Given the description of an element on the screen output the (x, y) to click on. 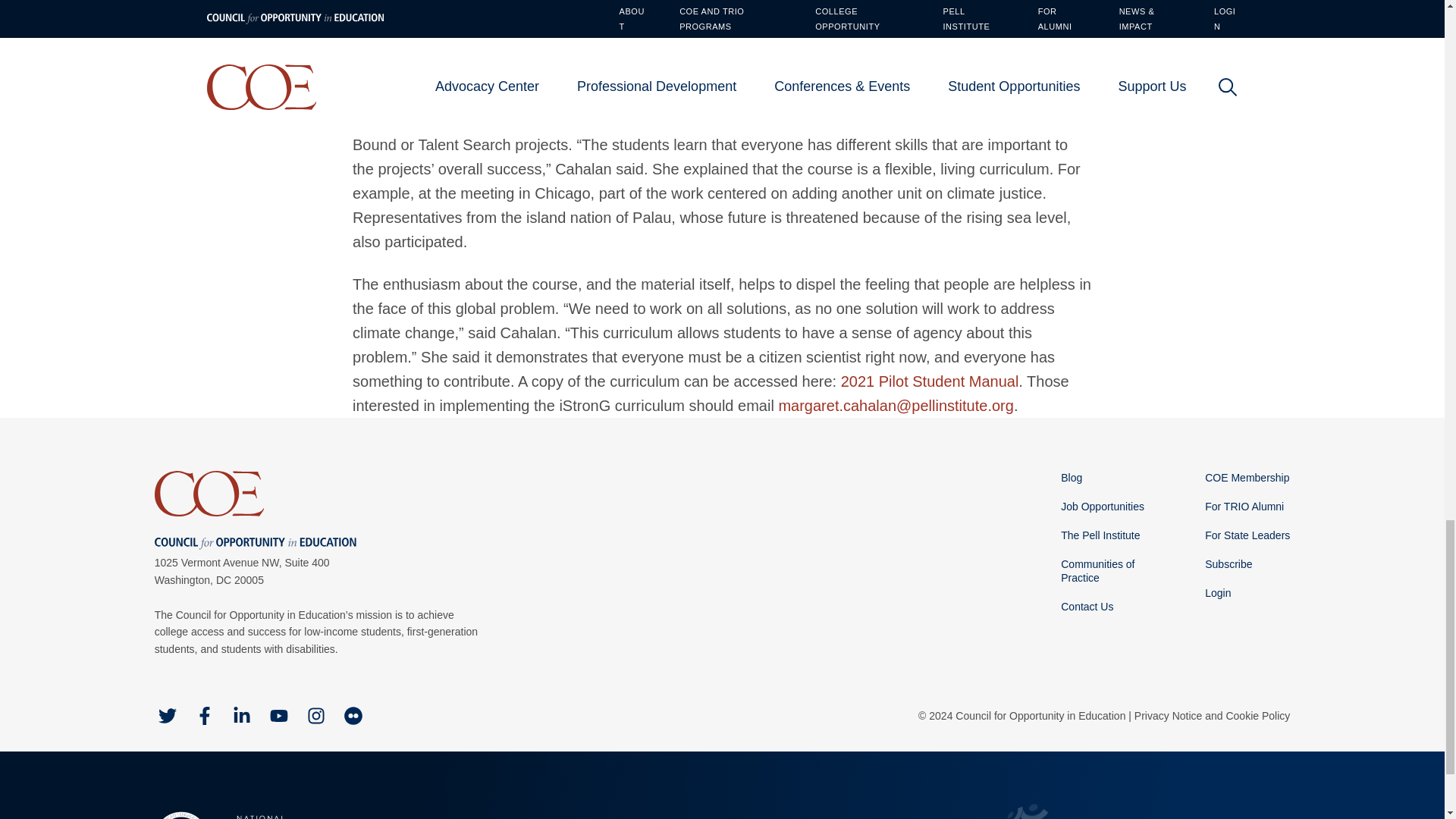
instagram (315, 715)
linkedin (241, 715)
twitter (167, 715)
youtube (278, 715)
flickr (352, 715)
facebook (204, 715)
empower (494, 812)
